Given the description of an element on the screen output the (x, y) to click on. 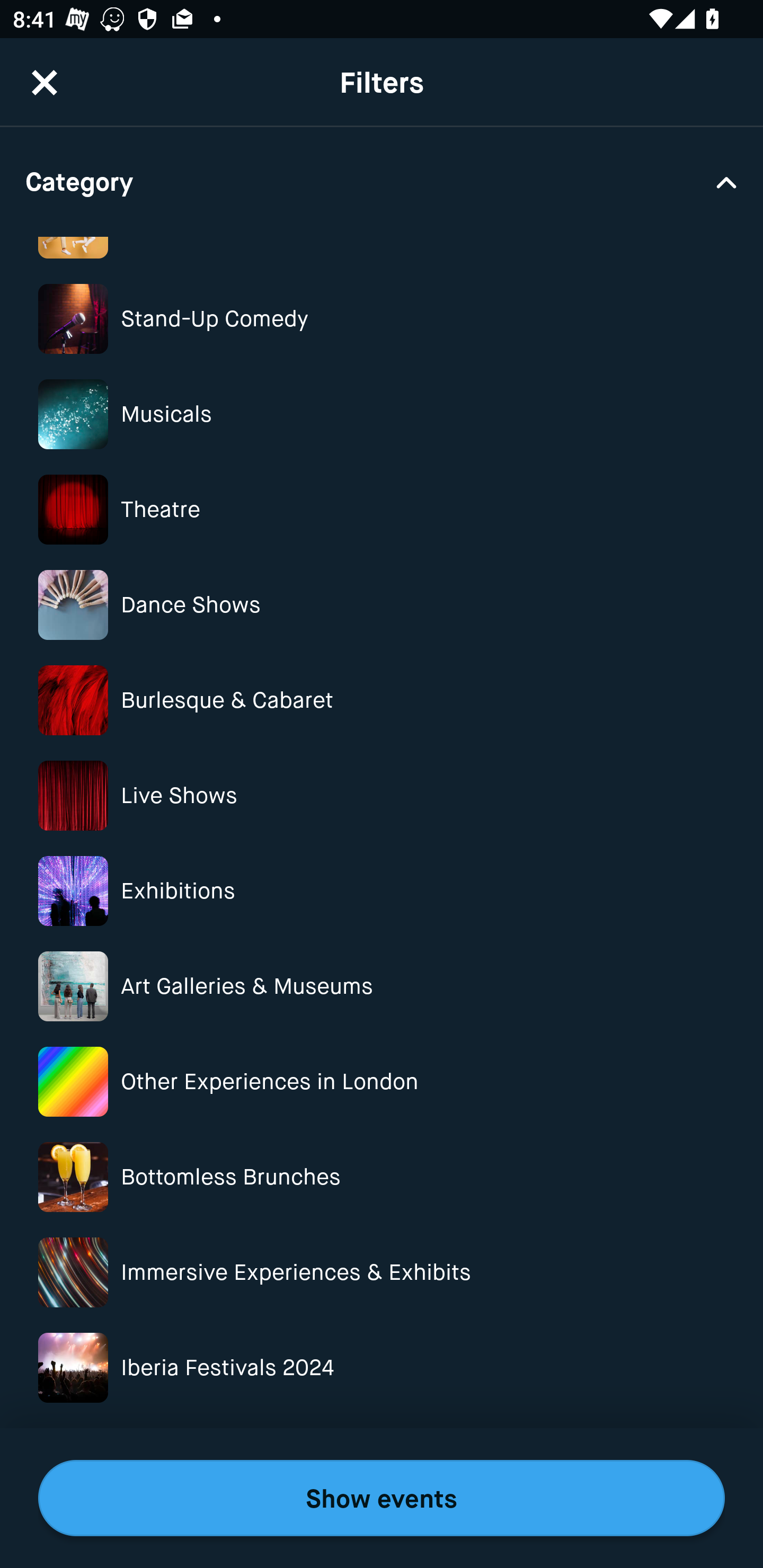
Category Drop Down Arrow (381, 181)
Category Image Stand-Up Comedy (381, 318)
Category Image Musicals (381, 414)
Category Image Theatre (381, 509)
Category Image Dance Shows (381, 604)
Category Image Burlesque & Cabaret (381, 699)
Category Image Live Shows (381, 795)
Category Image Exhibitions (381, 890)
Category Image Art Galleries & Museums (381, 985)
Category Image Other Experiences in London (381, 1081)
Category Image Bottomless Brunches (381, 1176)
Category Image Immersive Experiences & Exhibits (381, 1272)
Category Image Iberia Festivals 2024 (381, 1367)
Show events (381, 1497)
